Given the description of an element on the screen output the (x, y) to click on. 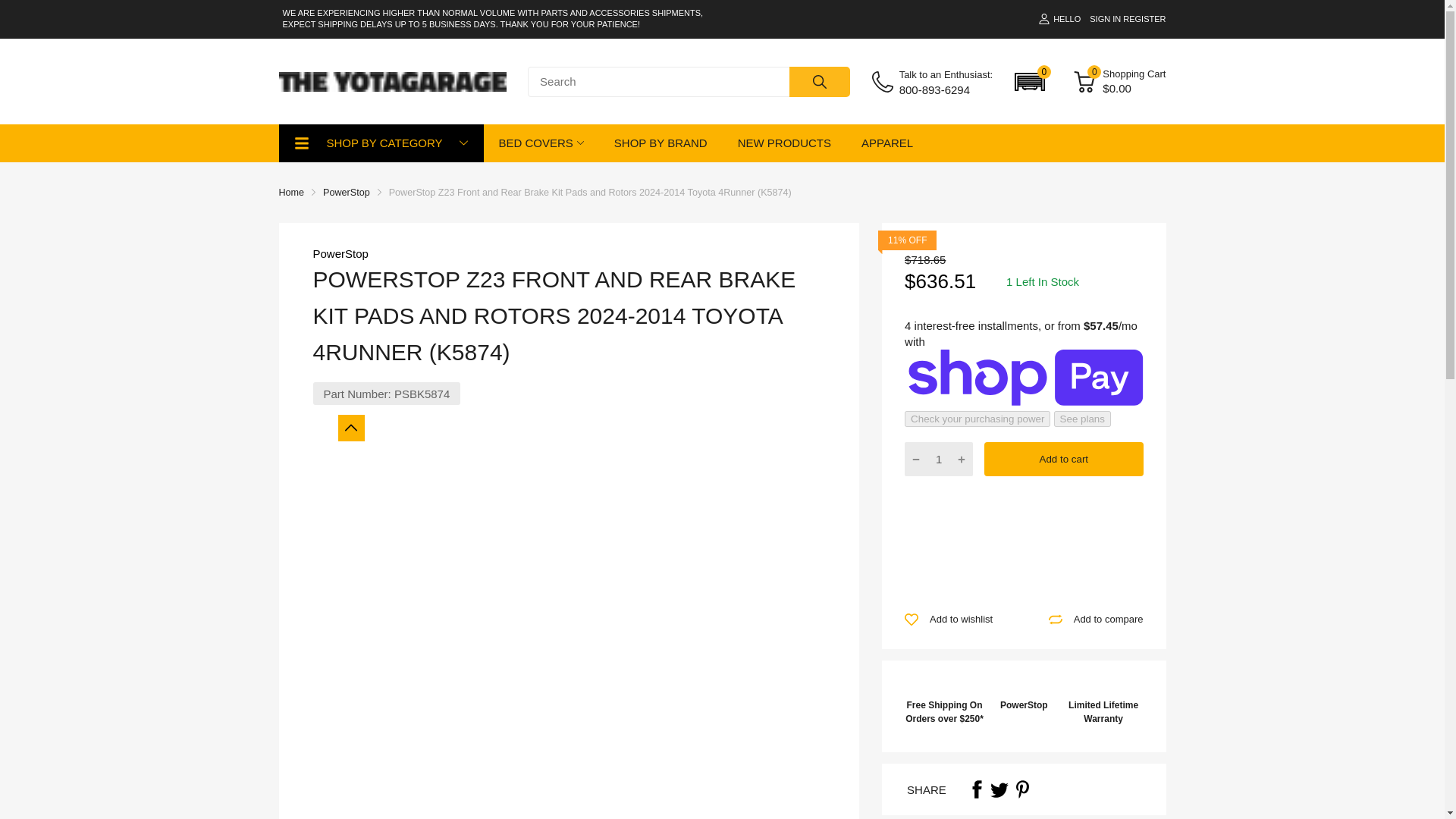
0 (1084, 81)
Home (291, 192)
Twitter (999, 789)
SHOP BY BRAND (660, 143)
HELLO (1059, 19)
REGISTER (1144, 18)
APPAREL (886, 143)
Add to cart (1063, 458)
PowerStop (340, 253)
NEW PRODUCTS (784, 143)
Search (819, 81)
1 (938, 459)
BED COVERS (536, 143)
Pinterest (1021, 789)
PowerStop (346, 192)
